Given the description of an element on the screen output the (x, y) to click on. 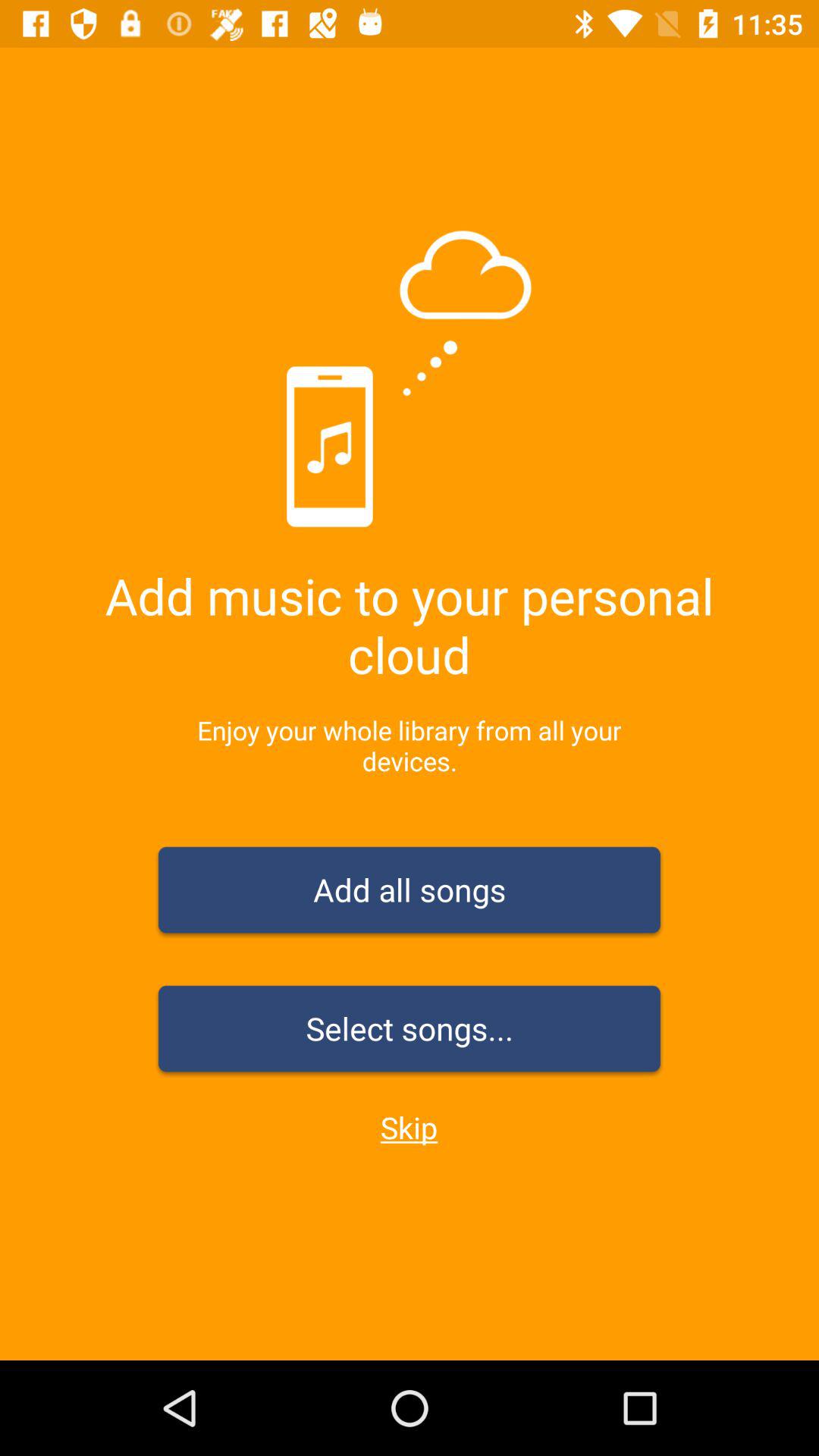
flip until select songs... (409, 1031)
